Given the description of an element on the screen output the (x, y) to click on. 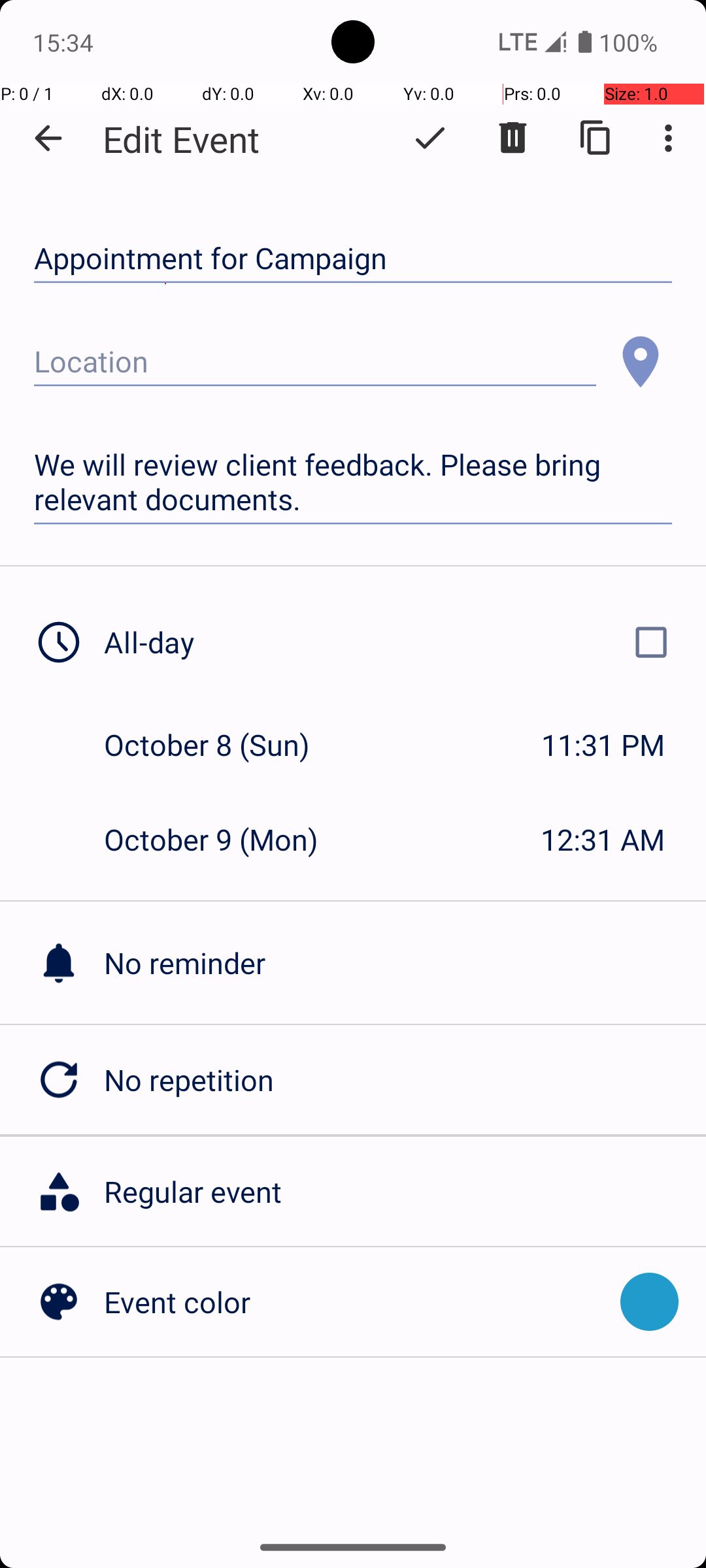
We will review client feedback. Please bring relevant documents. Element type: android.widget.EditText (352, 482)
October 8 (Sun) Element type: android.widget.TextView (220, 744)
11:31 PM Element type: android.widget.TextView (602, 744)
October 9 (Mon) Element type: android.widget.TextView (224, 838)
12:31 AM Element type: android.widget.TextView (602, 838)
